Given the description of an element on the screen output the (x, y) to click on. 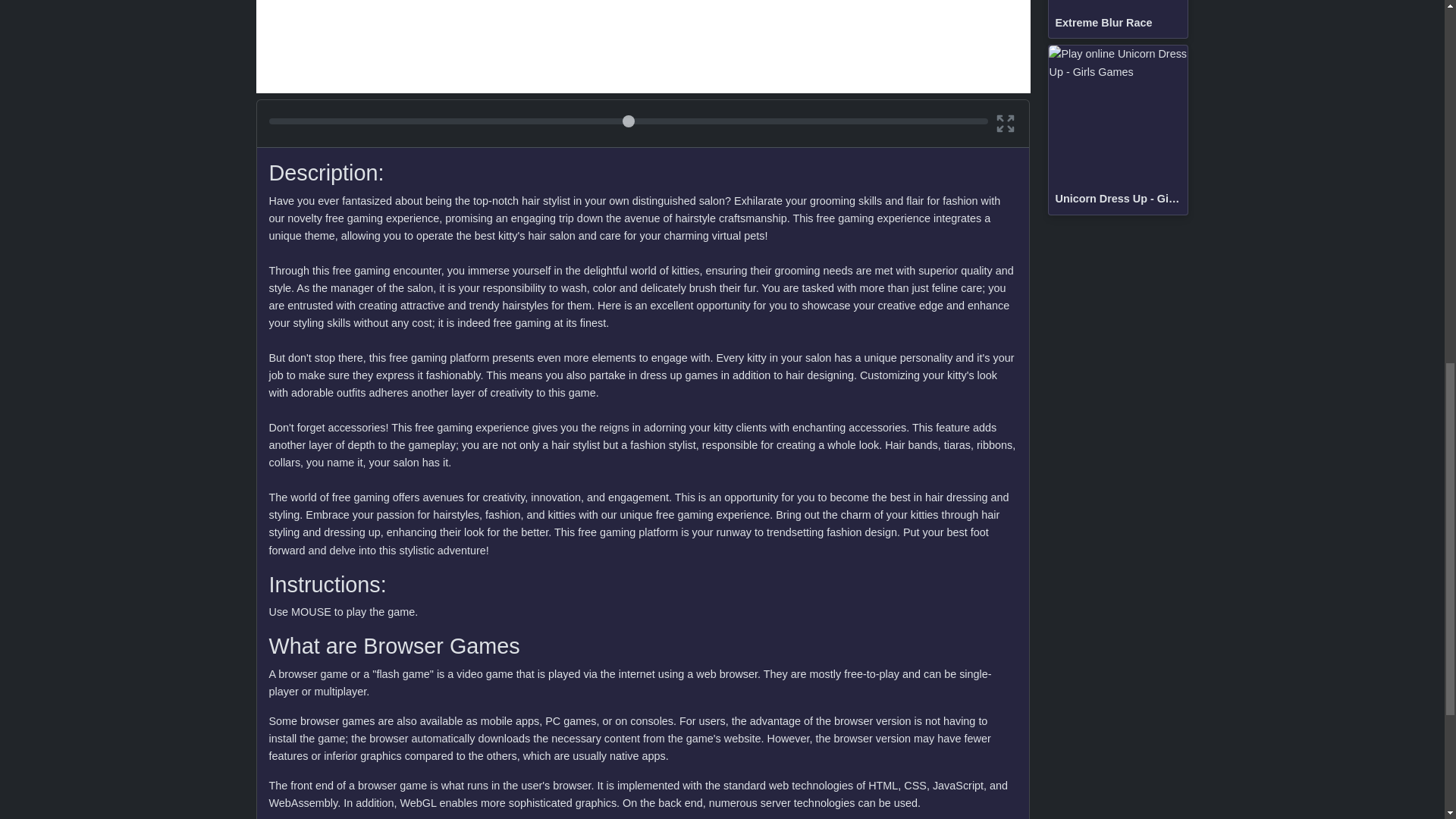
75 (627, 121)
